Given the description of an element on the screen output the (x, y) to click on. 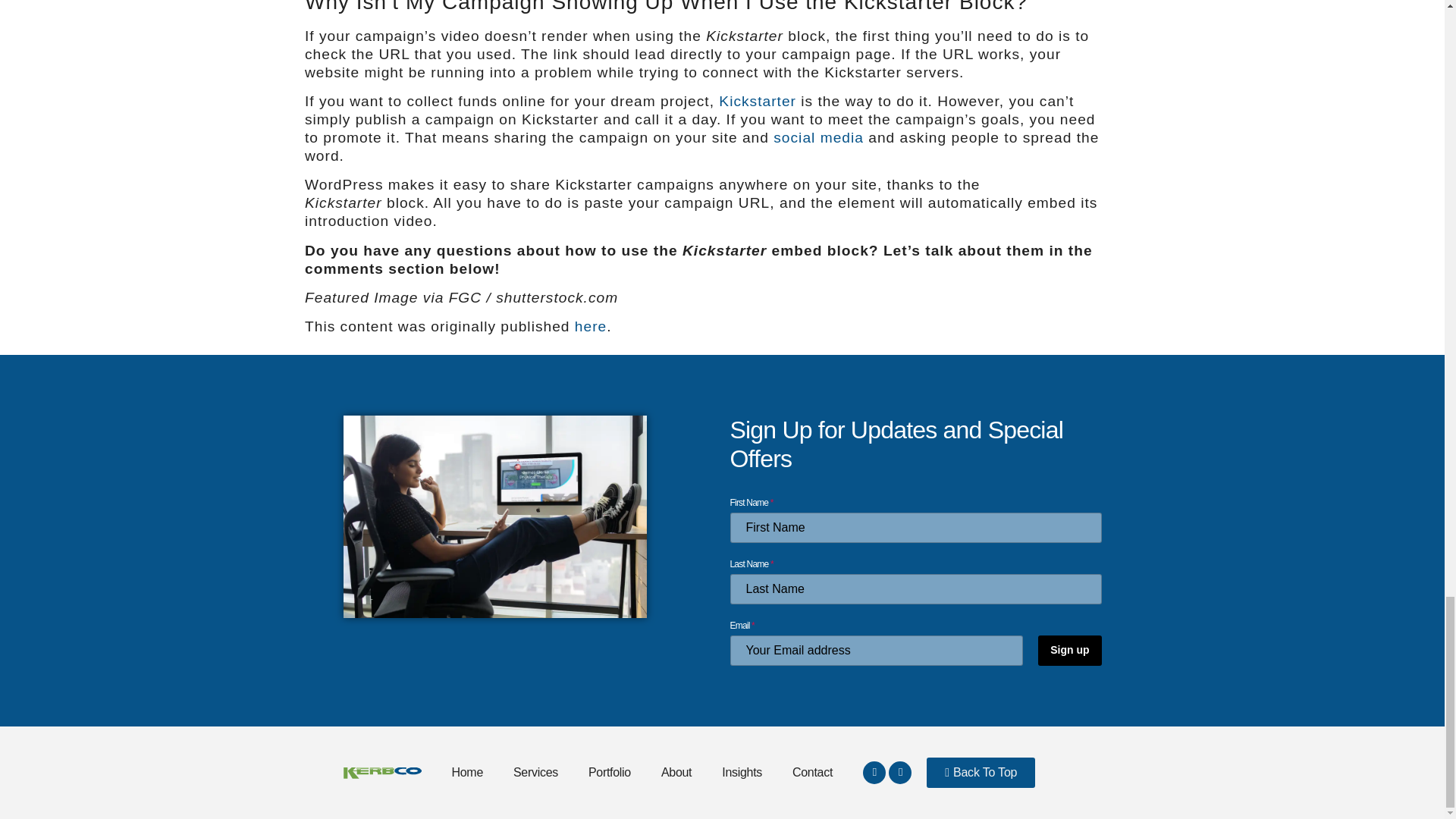
About (676, 772)
Contact (812, 772)
Sign up (1069, 650)
here (591, 326)
Services (535, 772)
Portfolio (609, 772)
social media (818, 137)
Home (466, 772)
Insights (741, 772)
Kickstarter (757, 100)
